Given the description of an element on the screen output the (x, y) to click on. 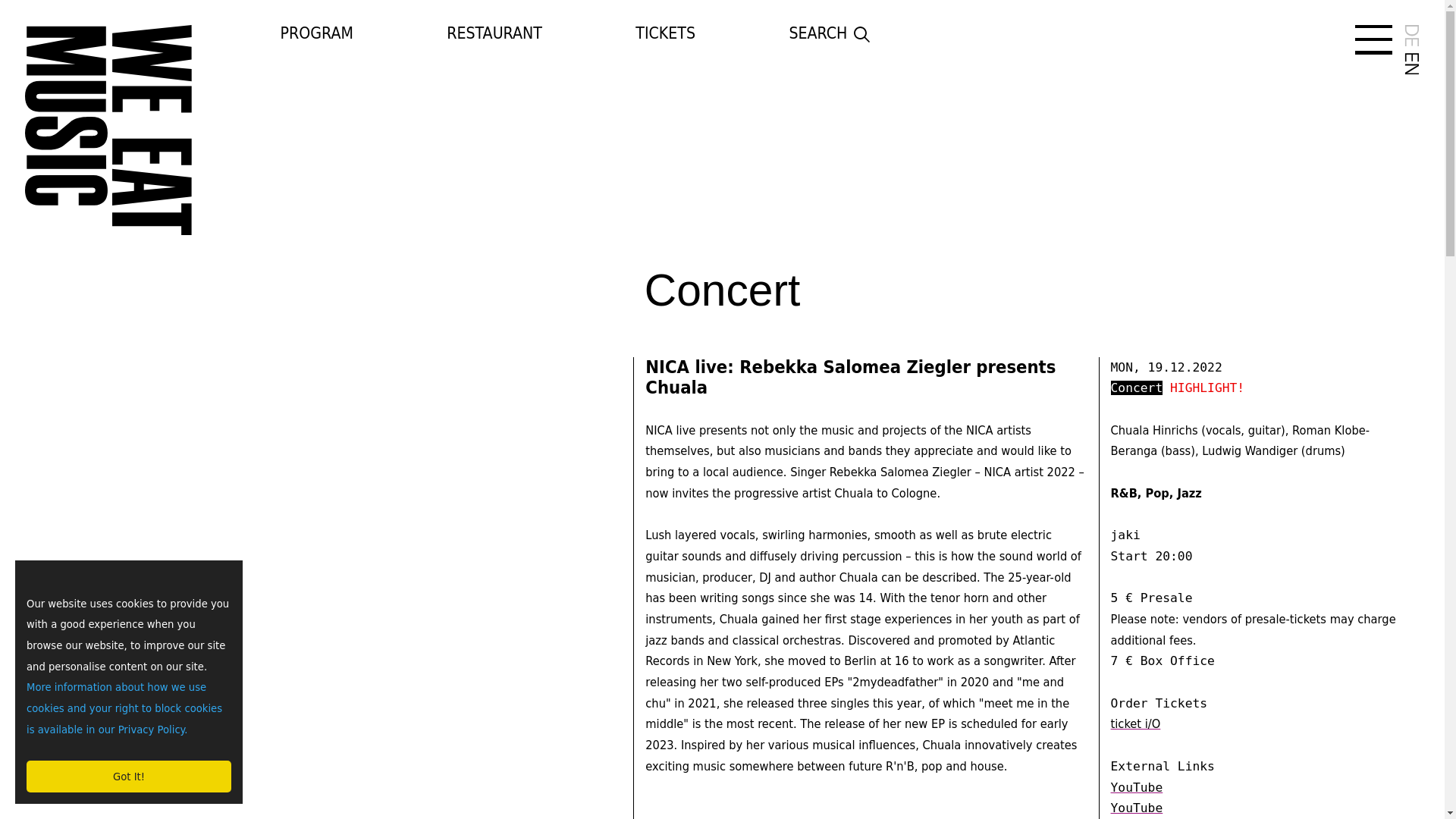
YouTube (1136, 807)
SEARCH (858, 35)
YouTube (1136, 787)
